Given the description of an element on the screen output the (x, y) to click on. 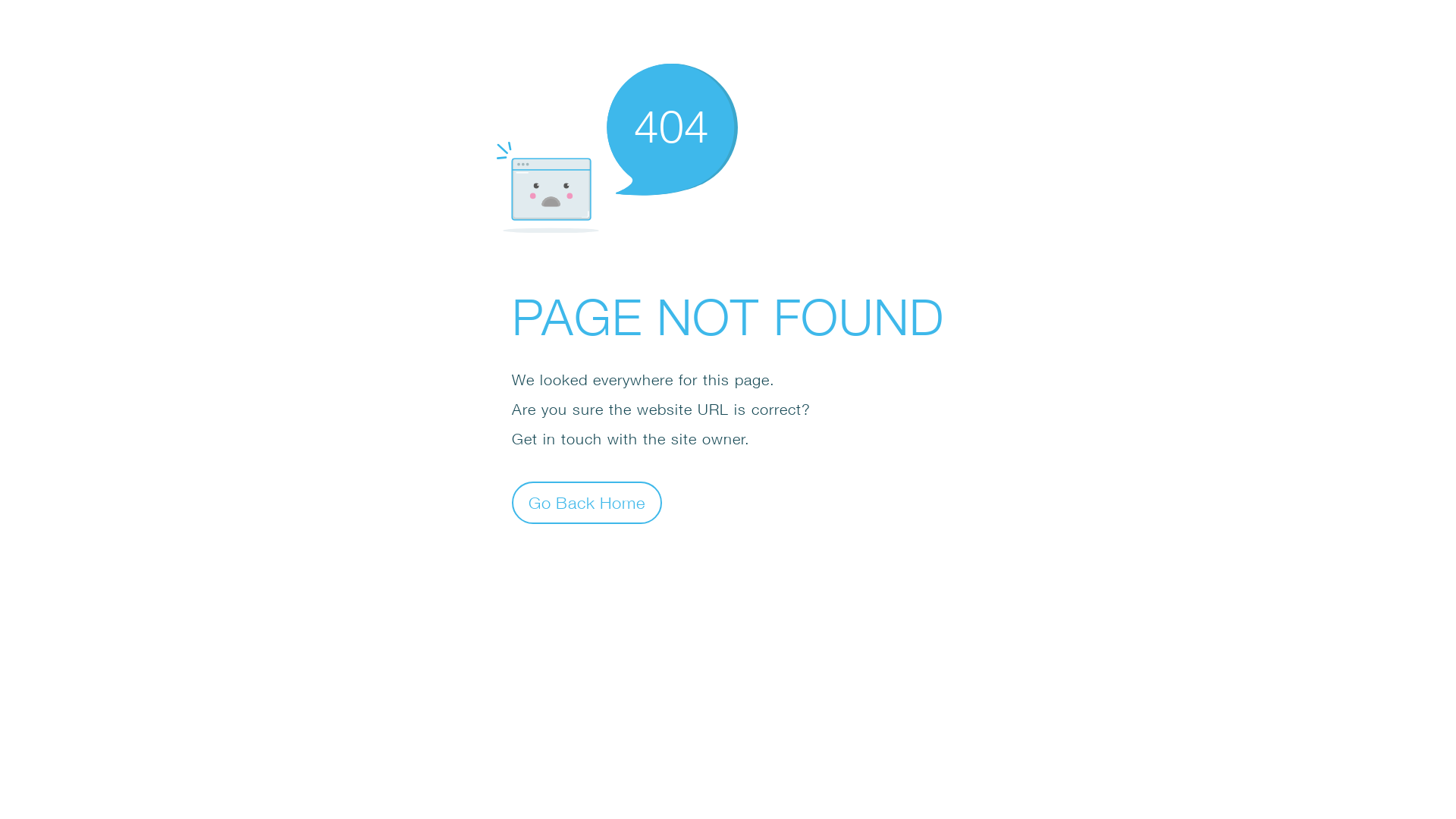
Go Back Home Element type: text (586, 502)
